Given the description of an element on the screen output the (x, y) to click on. 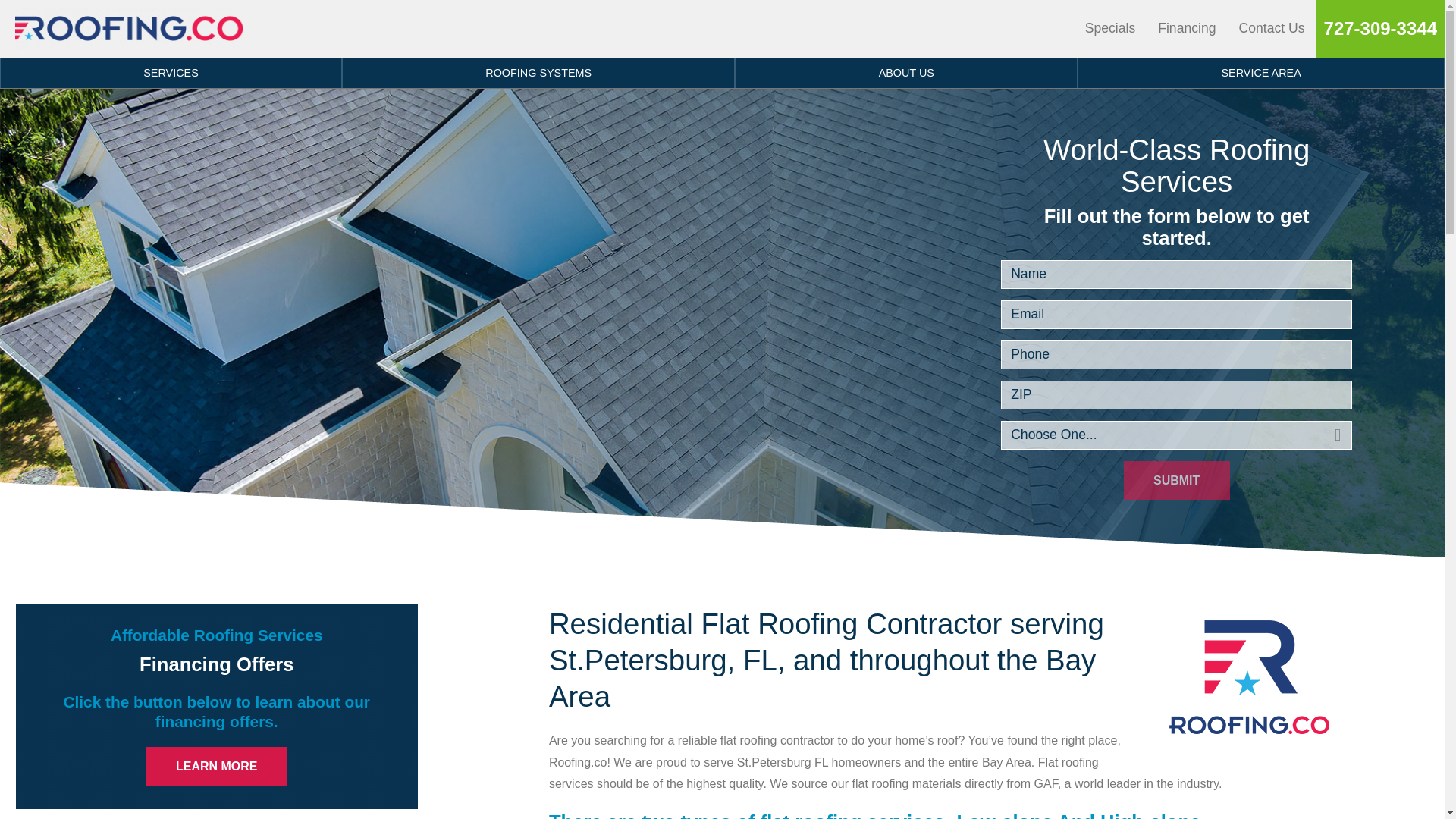
ABOUT US (906, 72)
Roofing.co (128, 28)
Specials (1110, 28)
LEARN MORE (216, 766)
ROOFING SYSTEMS (538, 72)
Financing (1187, 28)
Contact Us (1271, 28)
SERVICES (171, 72)
SUBMIT (1177, 480)
